Given the description of an element on the screen output the (x, y) to click on. 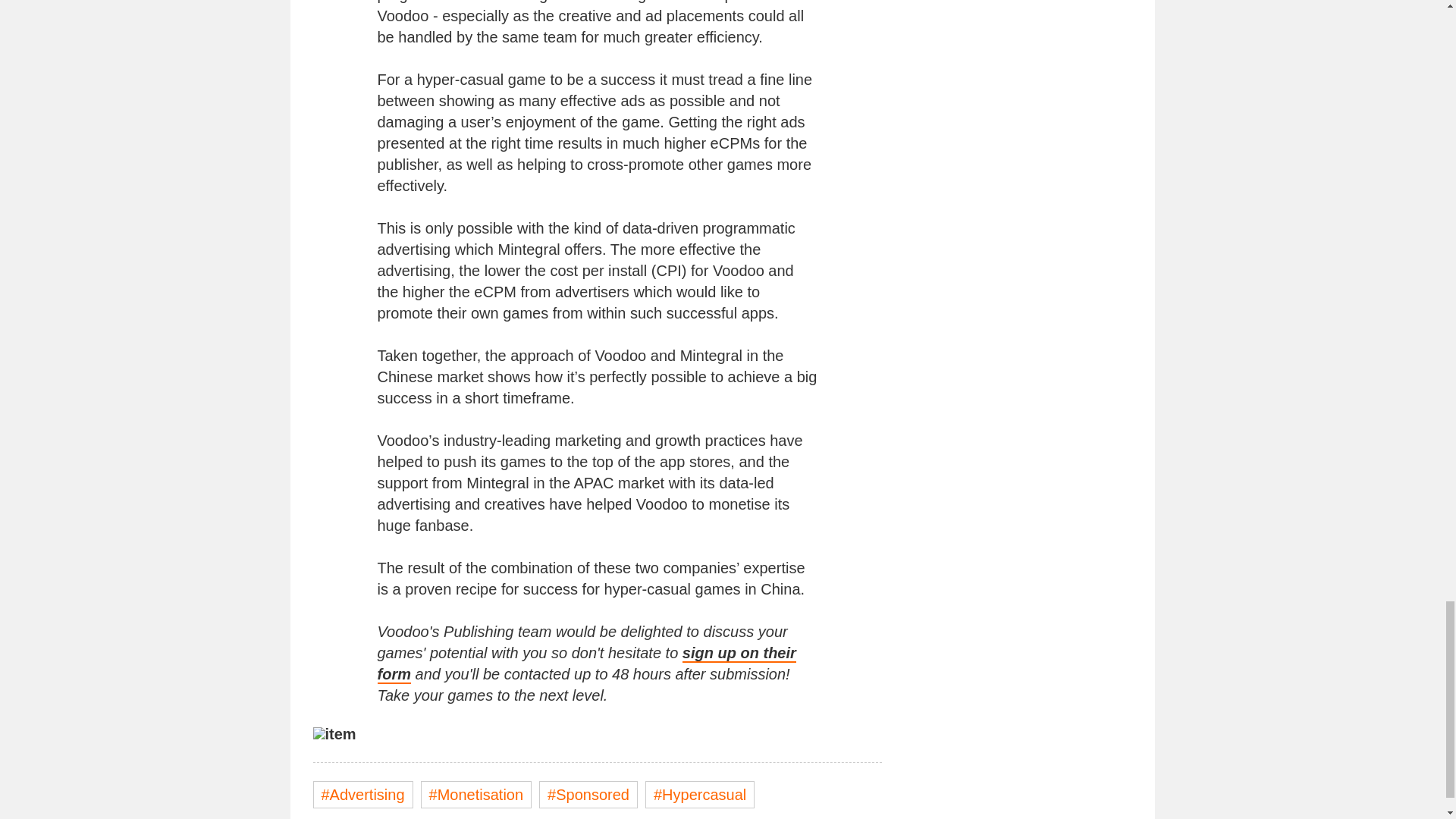
sign up on their form (586, 663)
